Given the description of an element on the screen output the (x, y) to click on. 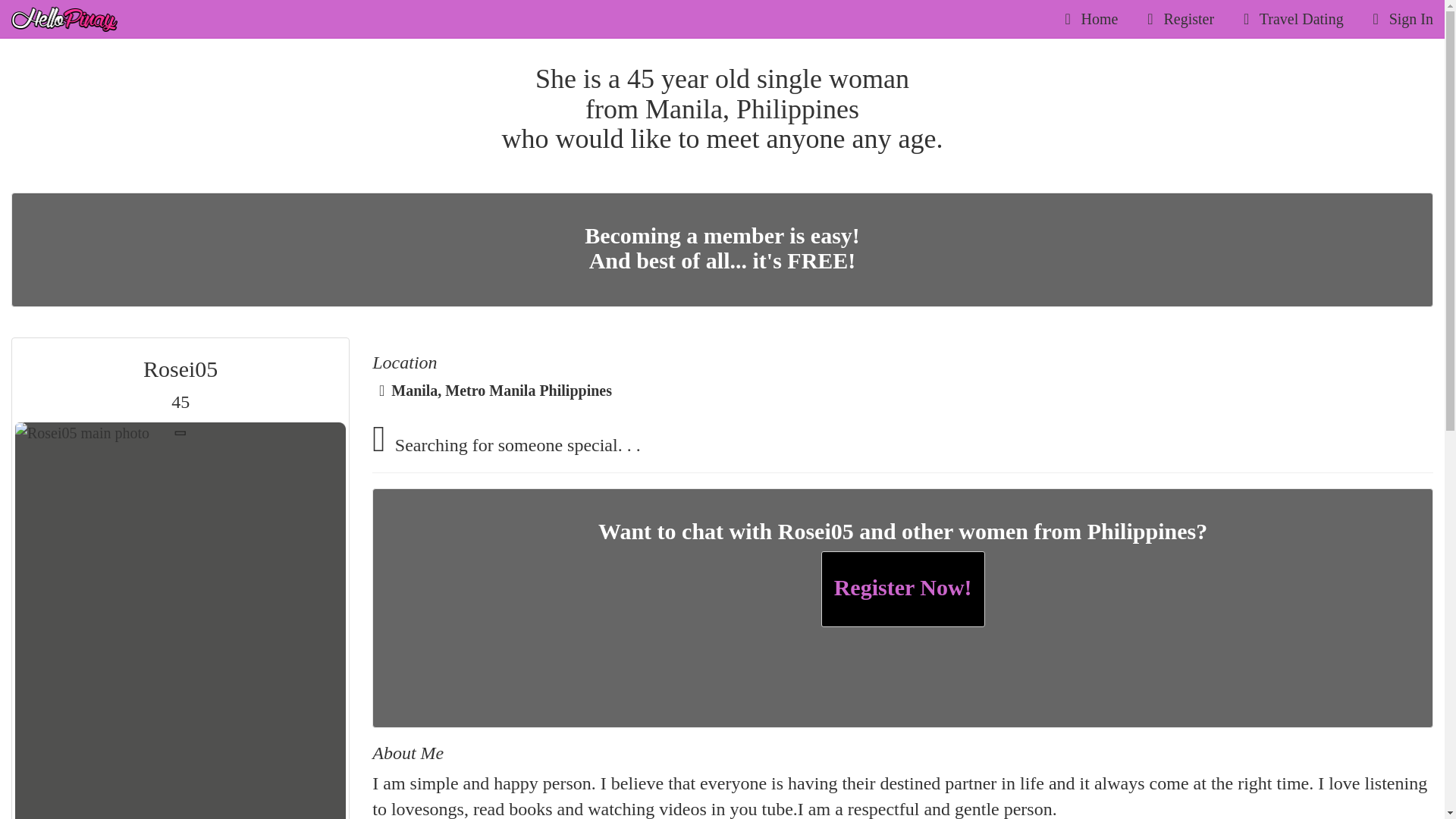
Register (1177, 18)
Home (722, 247)
Register Now! (1087, 18)
HelloPinay.com - Free dating site for the Philippines (903, 589)
Travel Dating (64, 18)
